Given the description of an element on the screen output the (x, y) to click on. 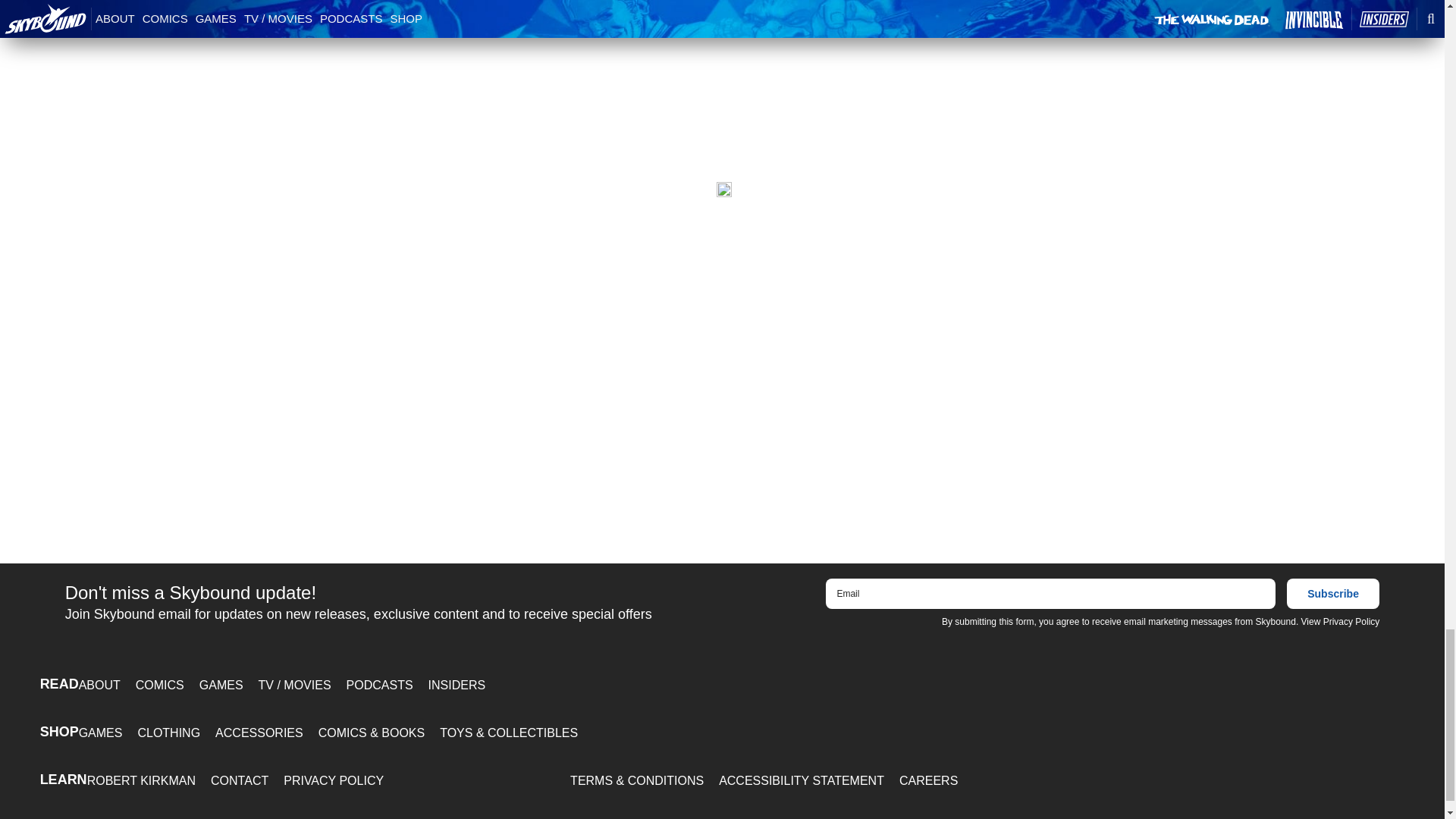
skybound-black-262626 (724, 189)
